Given the description of an element on the screen output the (x, y) to click on. 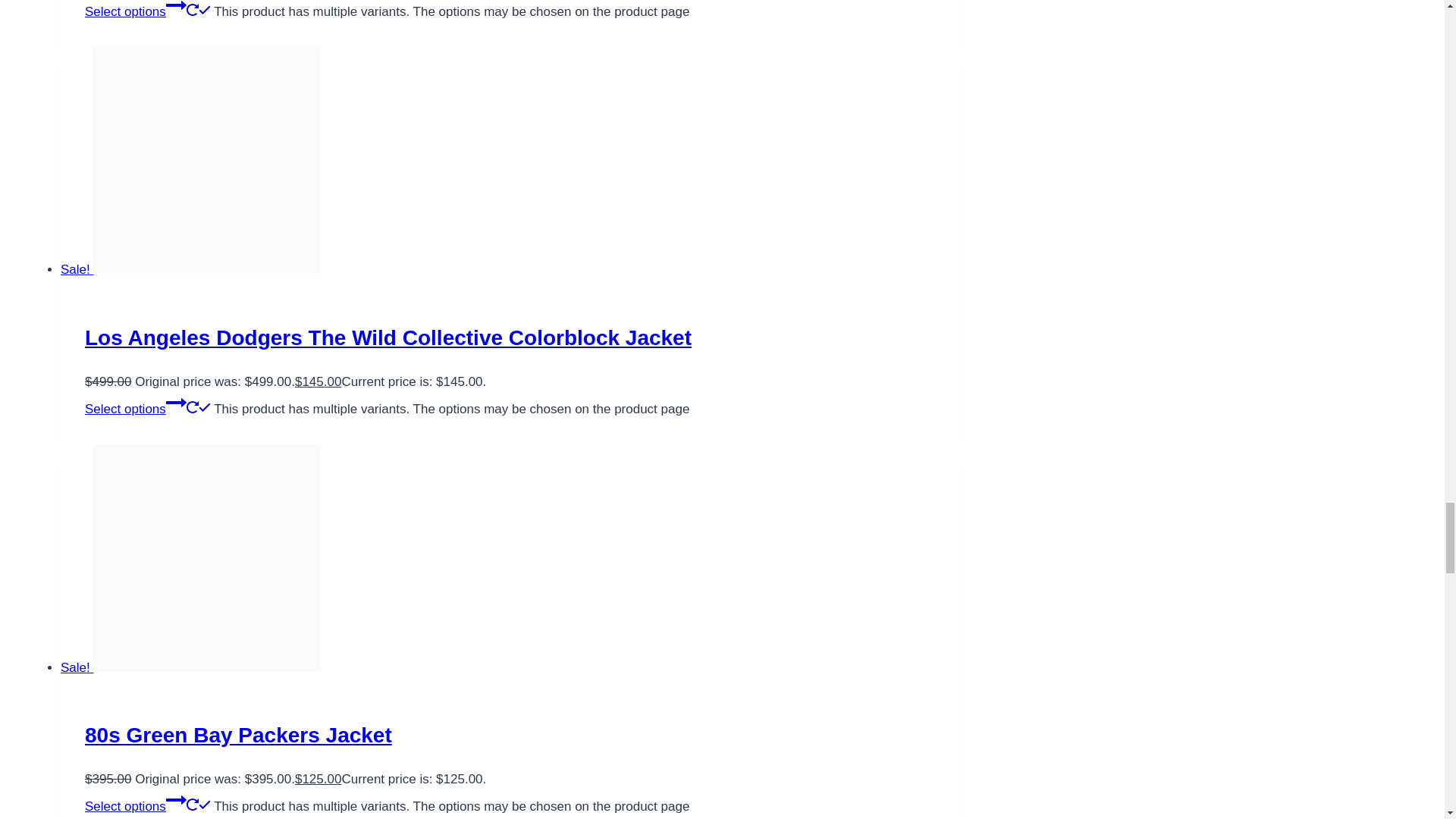
Loading (192, 9)
Continue (175, 7)
